Given the description of an element on the screen output the (x, y) to click on. 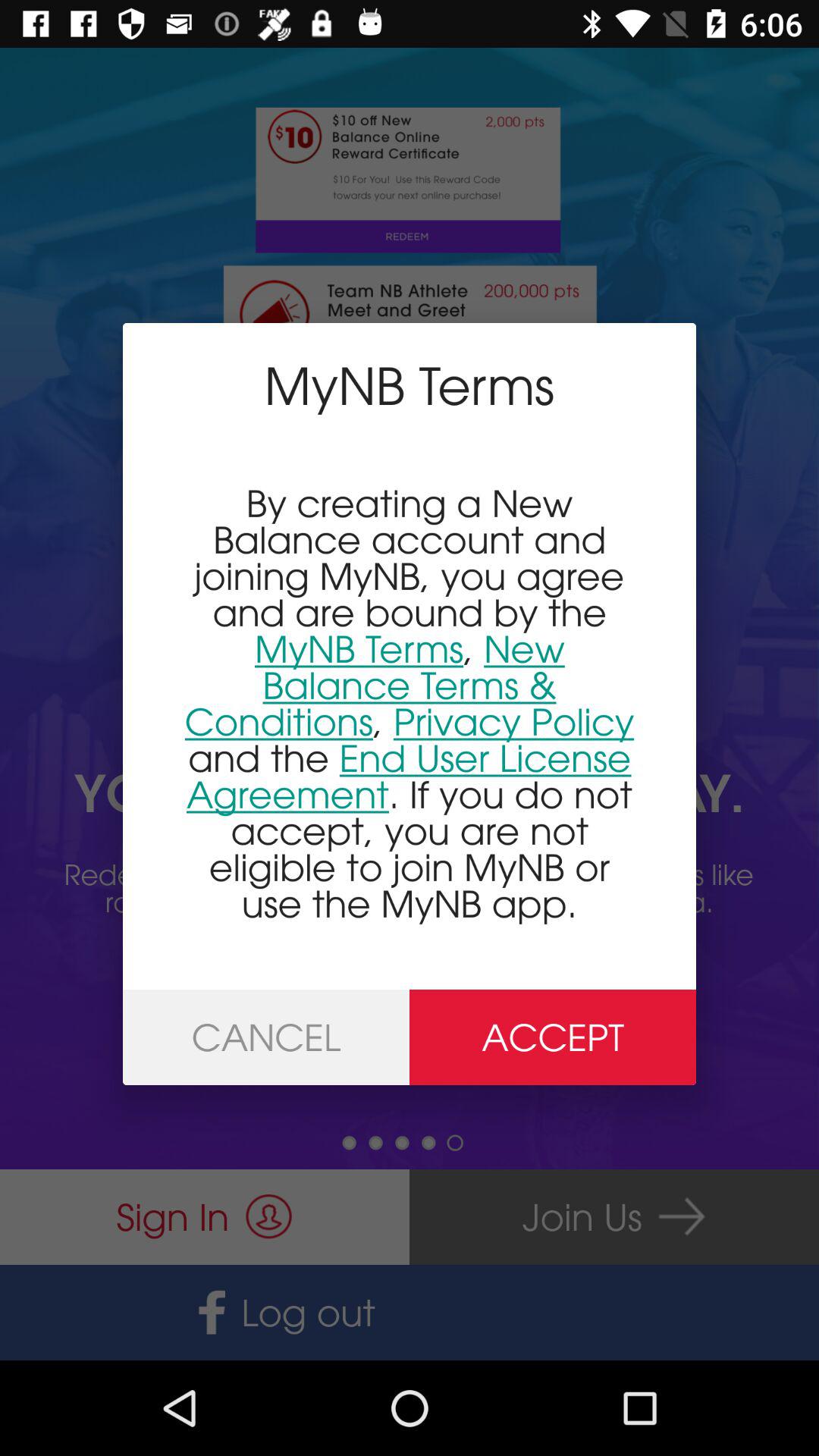
choose the item next to the accept (265, 1037)
